Given the description of an element on the screen output the (x, y) to click on. 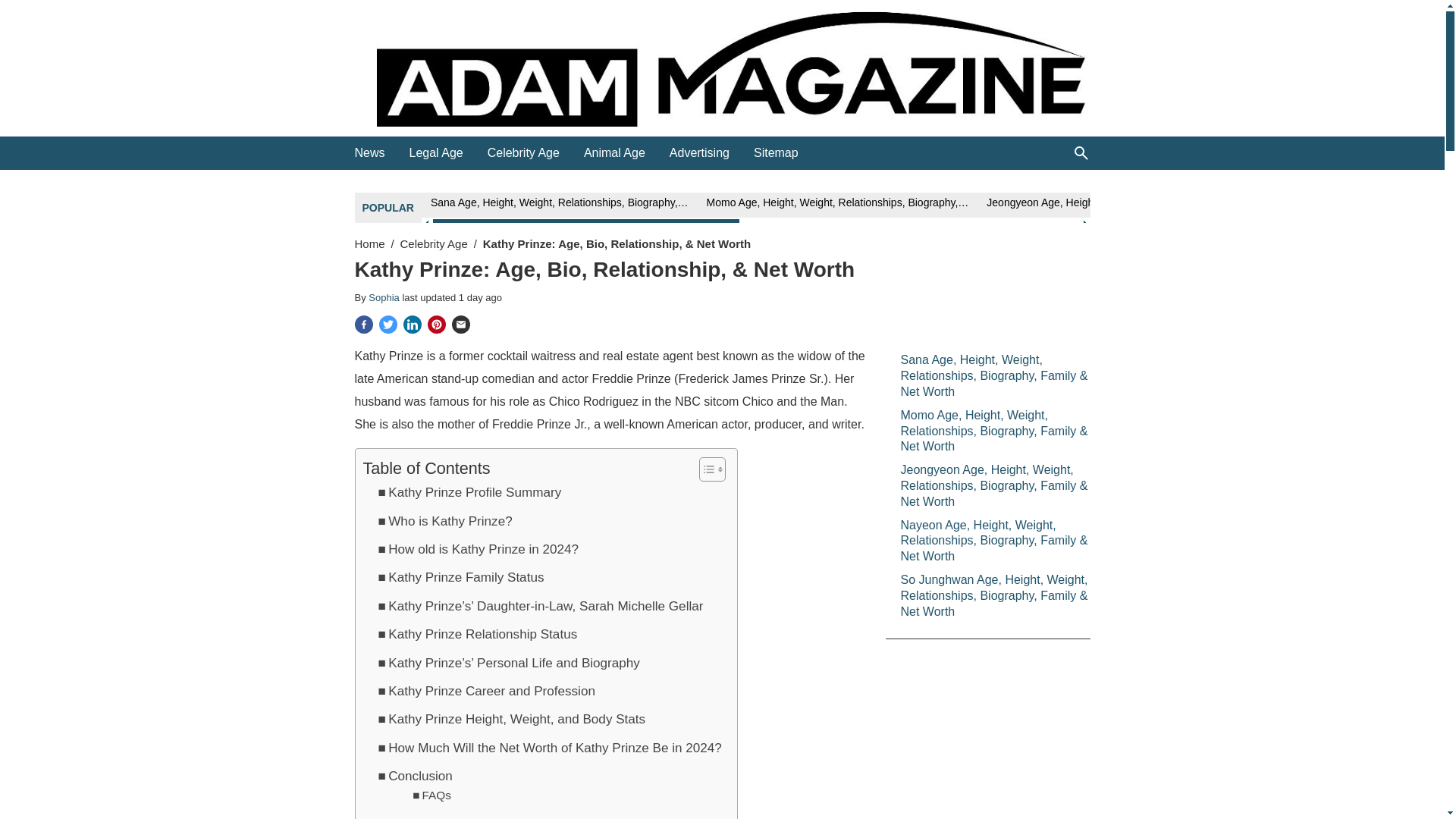
Who is Kathy Prinze? (444, 521)
How Much Will the Net Worth of Kathy Prinze Be in 2024? (548, 747)
Conclusion (414, 775)
Kathy Prinze Career and Profession (485, 690)
Celebrity Age (433, 243)
Kathy Prinze Height, Weight, and Body Stats (511, 719)
Advertising (699, 152)
Kathy Prinze Career and Profession (485, 690)
Kathy Prinze Height, Weight, and Body Stats (511, 719)
Kathy Prinze Profile Summary (468, 492)
How old is Kathy Prinze in 2024? (477, 548)
FAQs (431, 795)
Who is Kathy Prinze? (444, 521)
Legal Age (436, 152)
Kathy Prinze Profile Summary (468, 492)
